Given the description of an element on the screen output the (x, y) to click on. 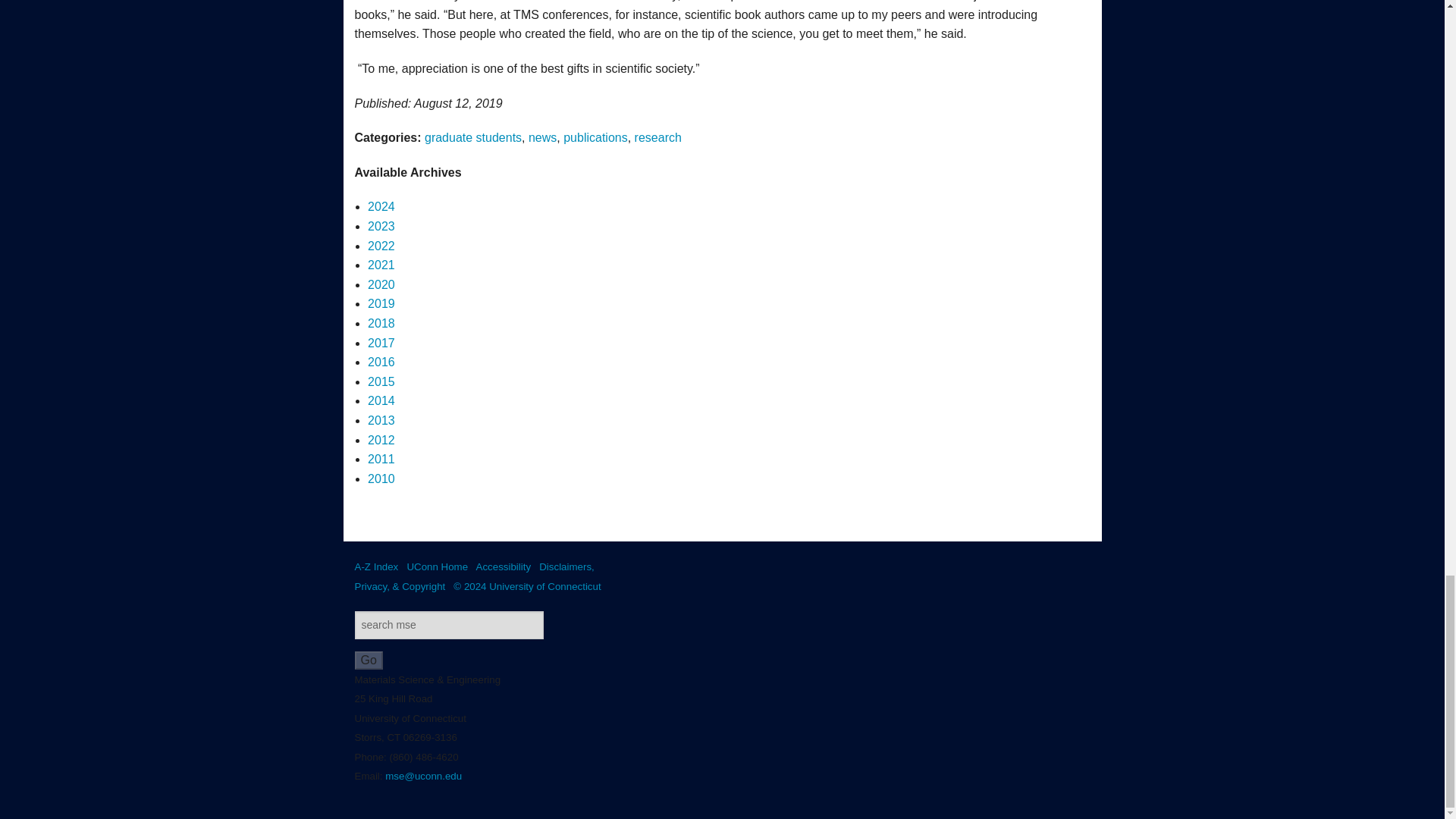
View all posts in research (657, 137)
View all posts in graduate students (473, 137)
View all posts in publications (595, 137)
Go (368, 660)
View all posts in news (542, 137)
